Given the description of an element on the screen output the (x, y) to click on. 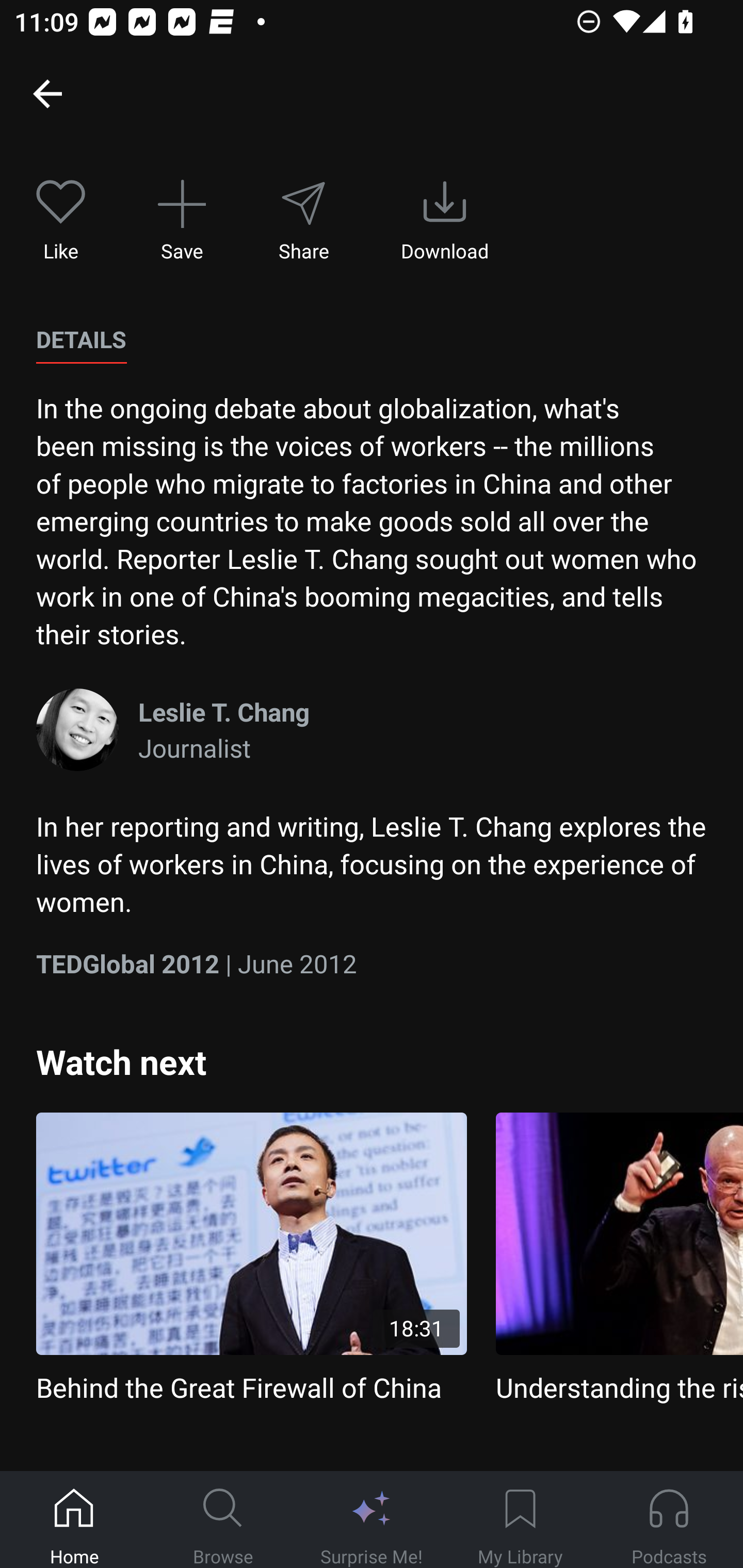
Home, back (47, 92)
Like (60, 220)
Save (181, 220)
Share (302, 220)
Download (444, 220)
DETAILS (80, 339)
18:31 Behind the Great Firewall of China (251, 1258)
Understanding the rise of China (619, 1258)
Home (74, 1520)
Browse (222, 1520)
Surprise Me! (371, 1520)
My Library (519, 1520)
Podcasts (668, 1520)
